Given the description of an element on the screen output the (x, y) to click on. 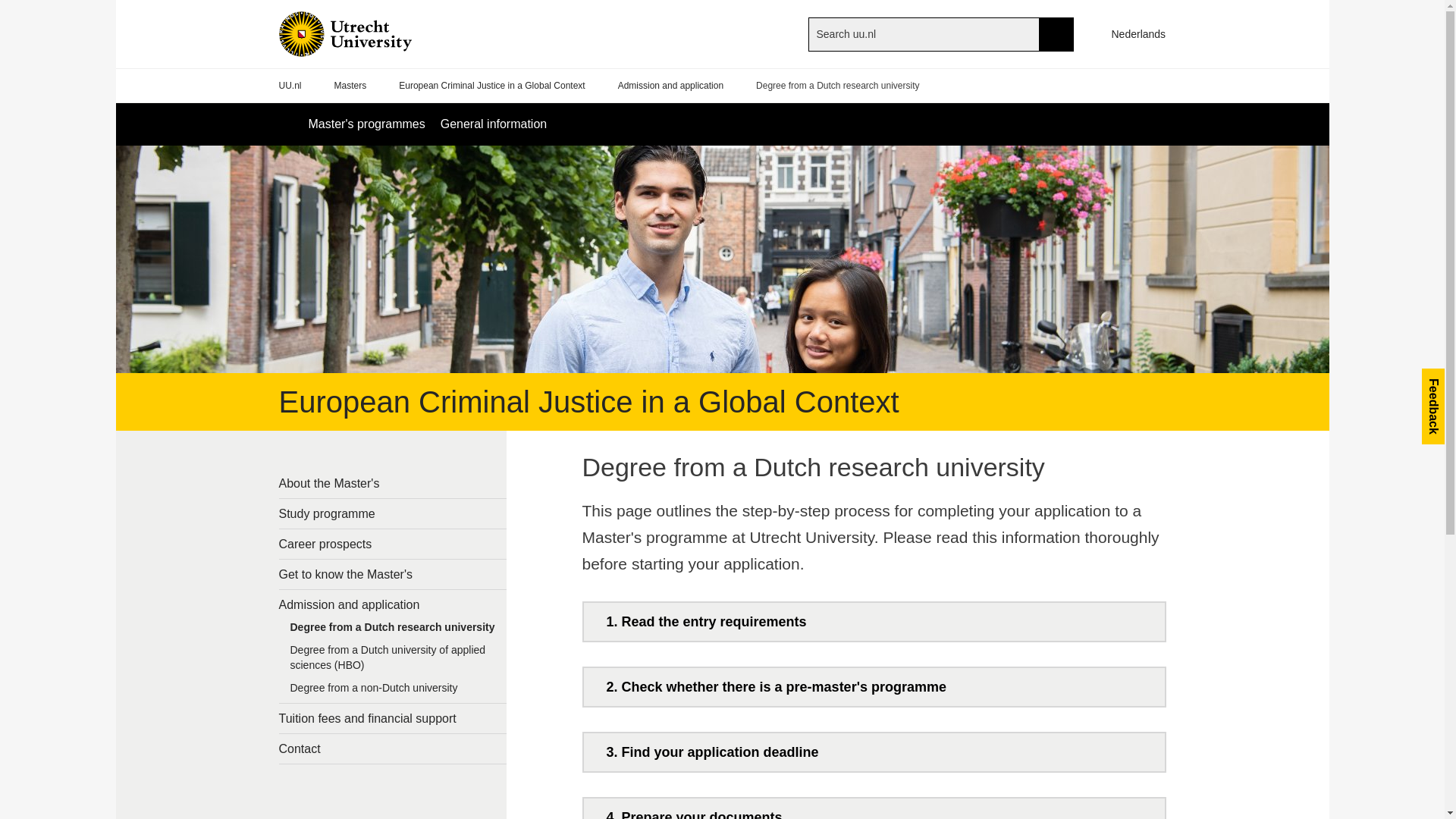
Degree from a Dutch research university (392, 630)
Home (370, 33)
Admission and application (392, 604)
Master's programmes (365, 124)
Masters (350, 85)
3. Find your application deadline (873, 752)
Nederlands (1131, 33)
Tuition fees and financial support (392, 718)
Get to know the Master's (392, 573)
